Given the description of an element on the screen output the (x, y) to click on. 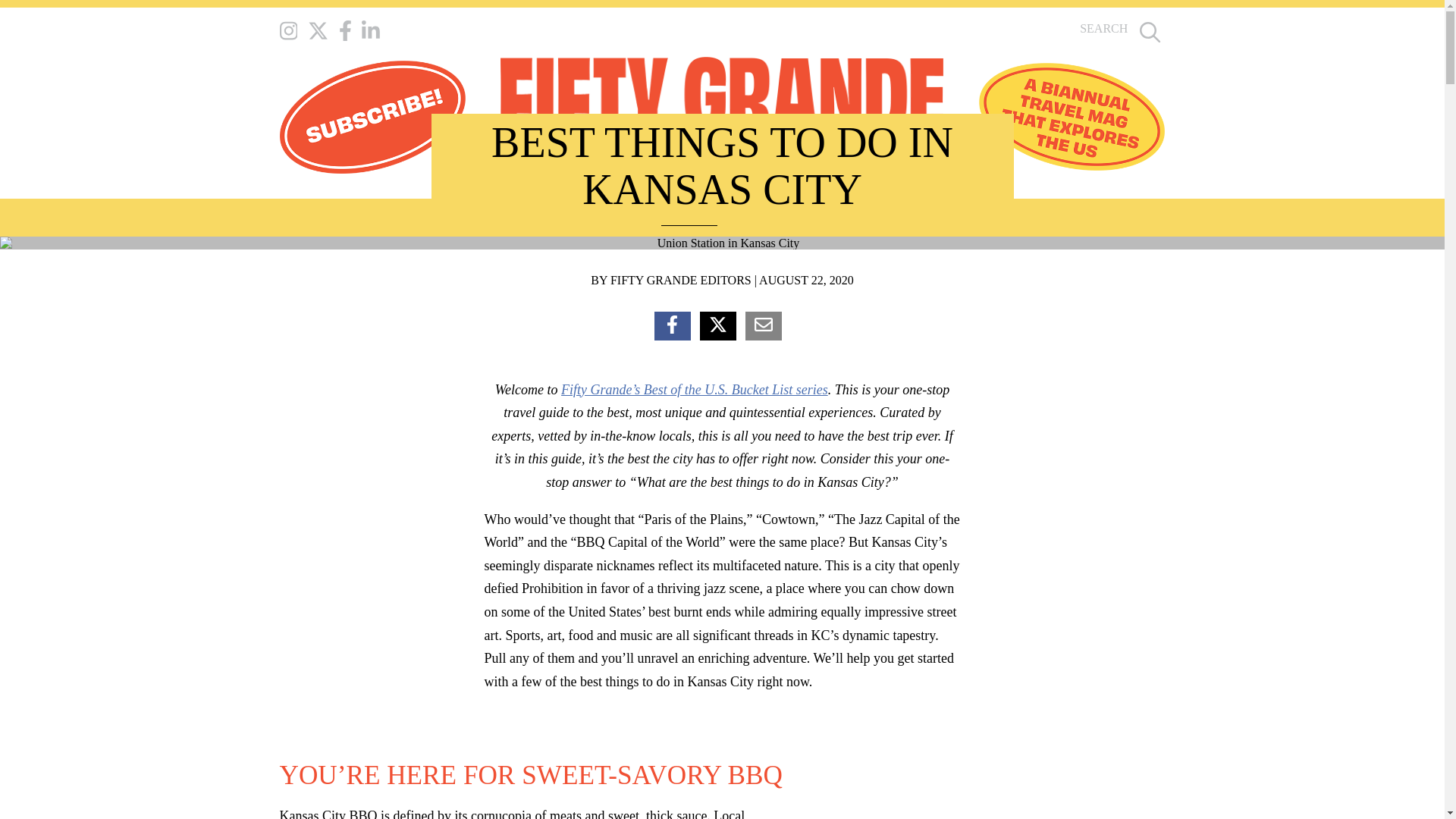
NEWSLETTER (914, 218)
SHOP (565, 218)
ISSUES (511, 218)
LATEST (619, 218)
FIFTY GRANDE EDITORS (680, 279)
HOTELS (759, 218)
FESTIVALS (829, 218)
U.S. GUIDE (689, 218)
